Given the description of an element on the screen output the (x, y) to click on. 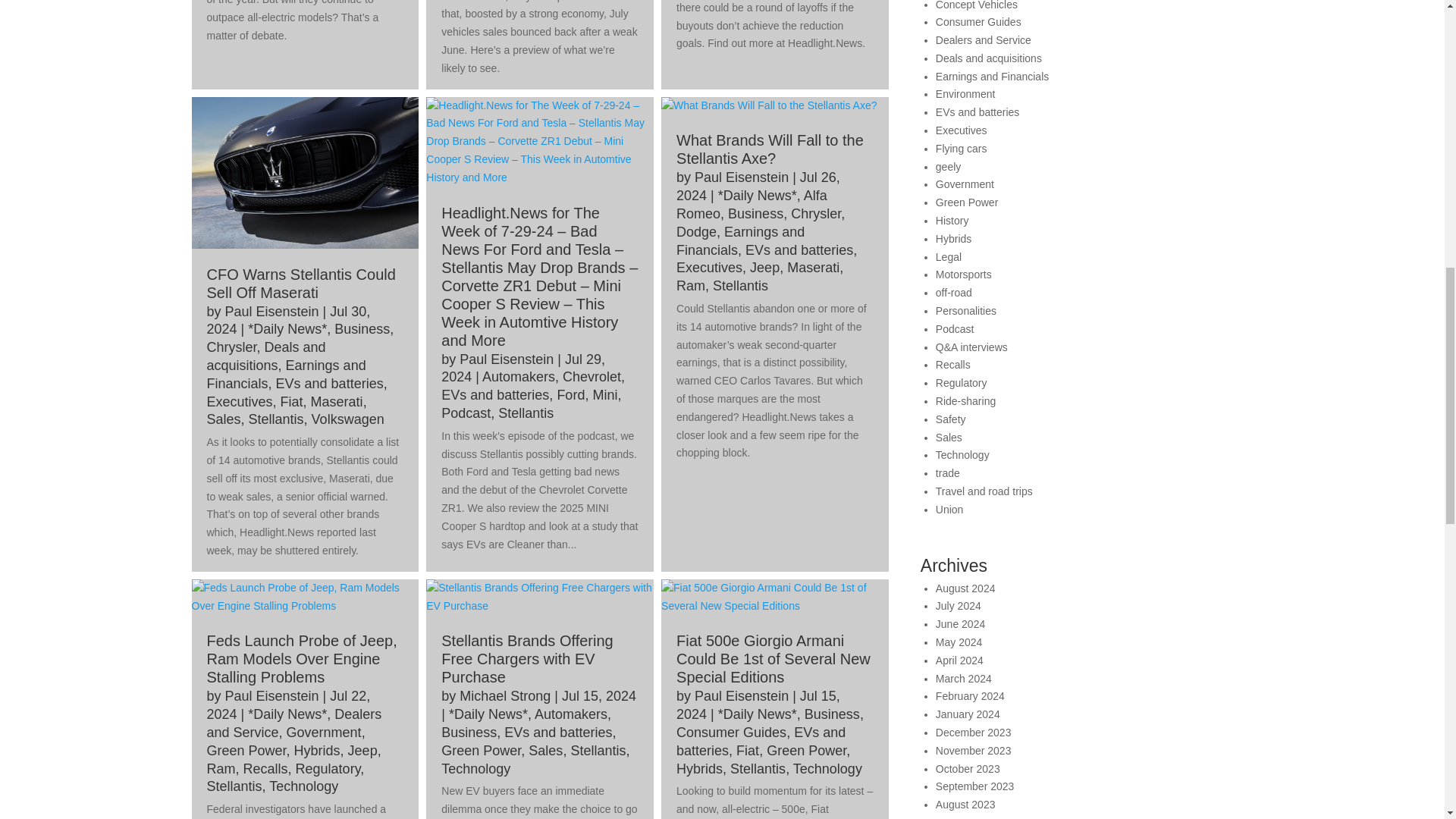
Posts by Paul Eisenstein (271, 311)
Posts by Paul Eisenstein (506, 359)
Posts by Paul Eisenstein (271, 695)
Posts by Paul Eisenstein (741, 177)
Posts by Michael Strong (505, 695)
Posts by Paul Eisenstein (741, 695)
